Given the description of an element on the screen output the (x, y) to click on. 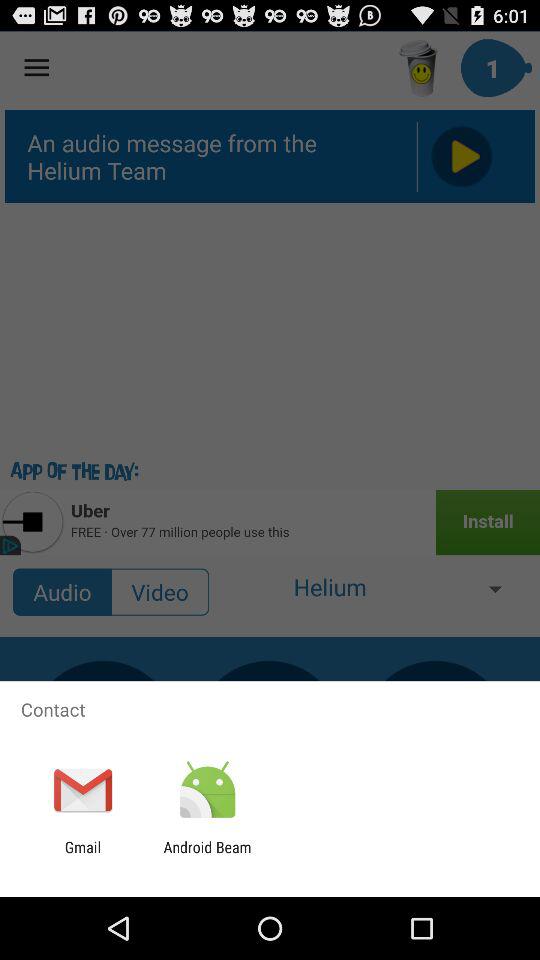
open android beam icon (207, 856)
